Given the description of an element on the screen output the (x, y) to click on. 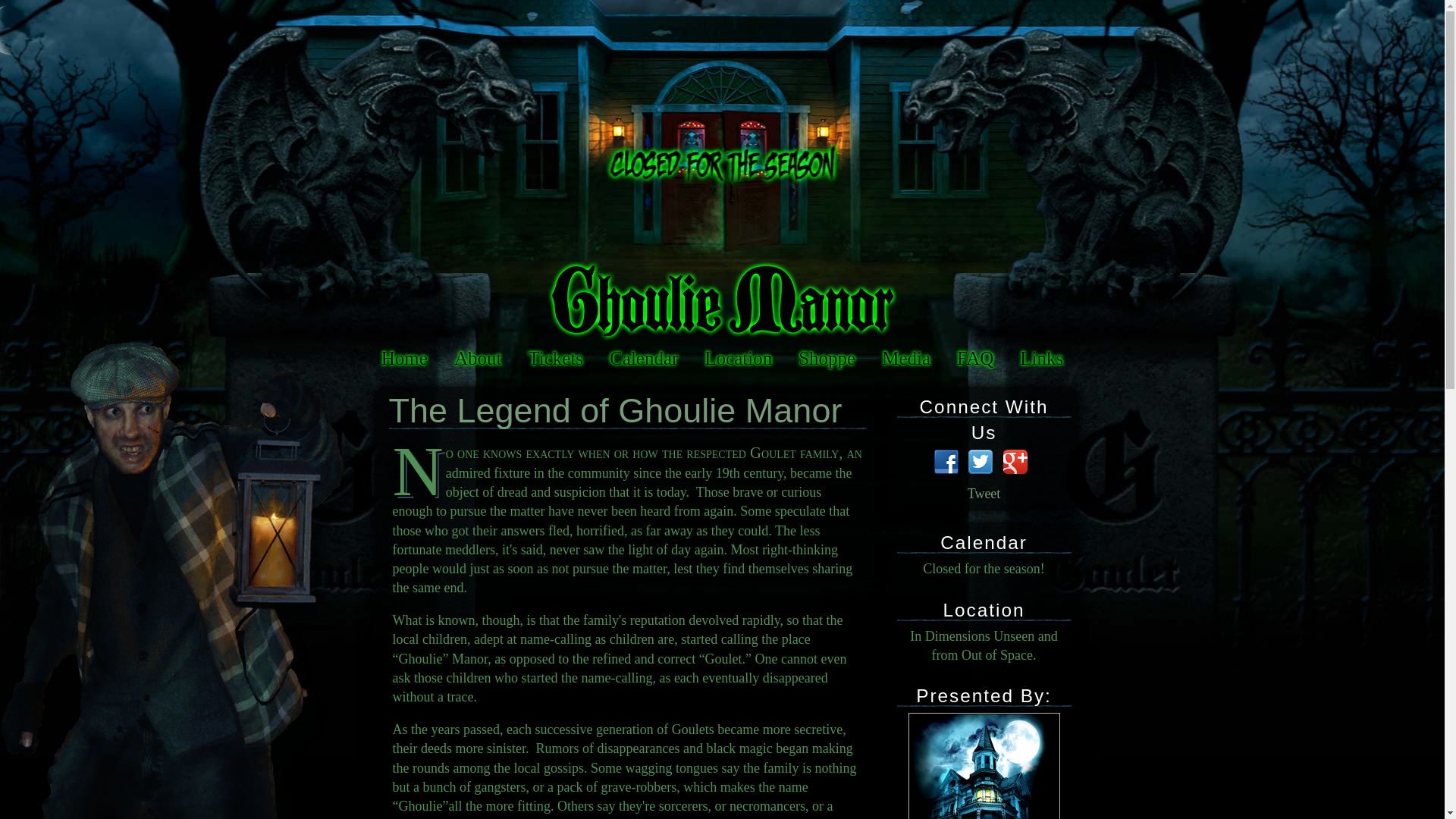
Calendar (643, 358)
Like us on Facebook (947, 462)
Location (738, 358)
Tickets (555, 358)
Facebook (947, 462)
Presented By: (983, 695)
Twitter (981, 462)
About (477, 358)
Media (906, 358)
FAQ (974, 358)
Shoppe (826, 358)
Calendar (983, 542)
Follow us Twitter (981, 462)
Location (984, 609)
Home (404, 358)
